Given the description of an element on the screen output the (x, y) to click on. 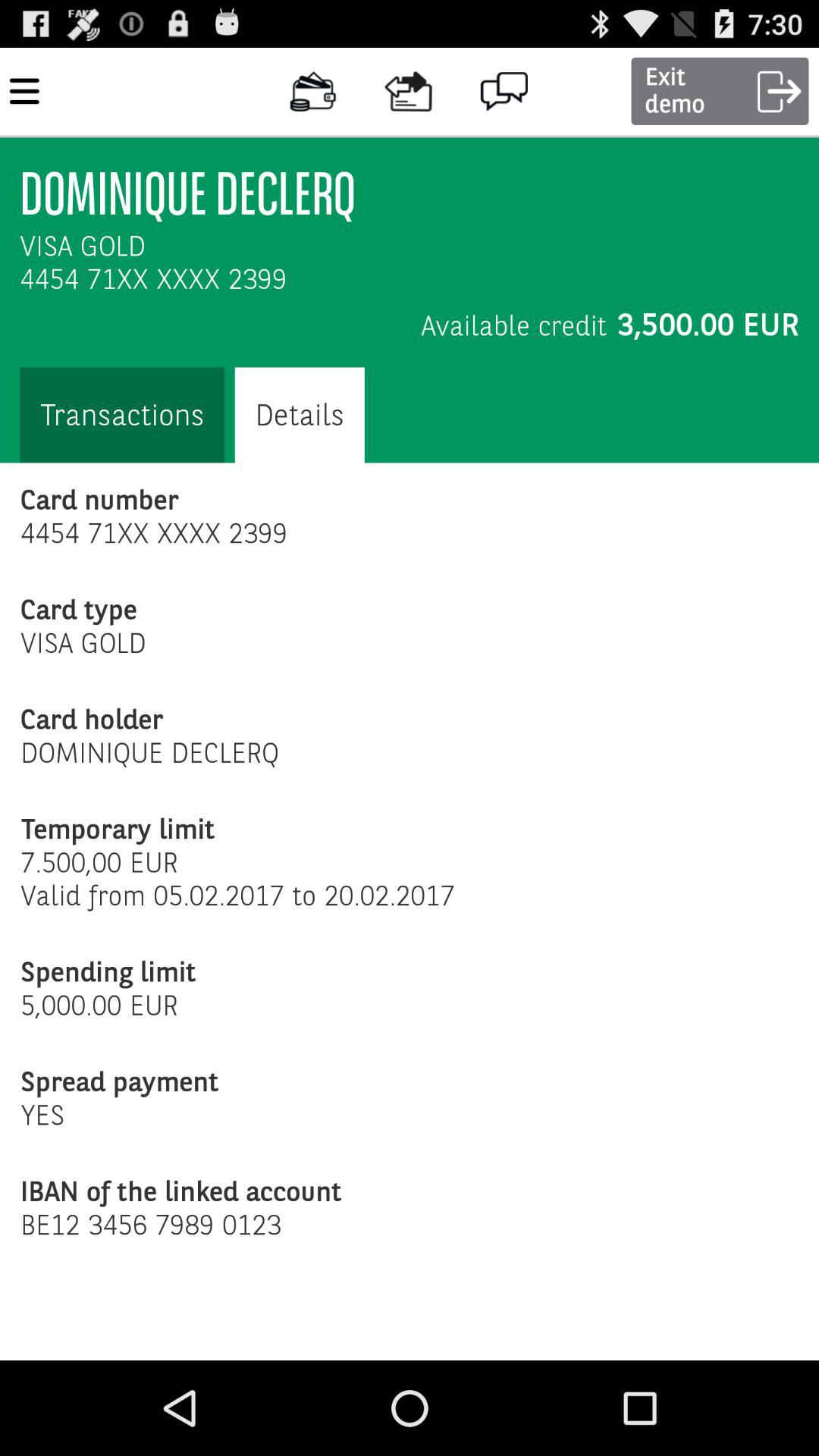
click on transactions (121, 415)
click on wallet (313, 91)
